Given the description of an element on the screen output the (x, y) to click on. 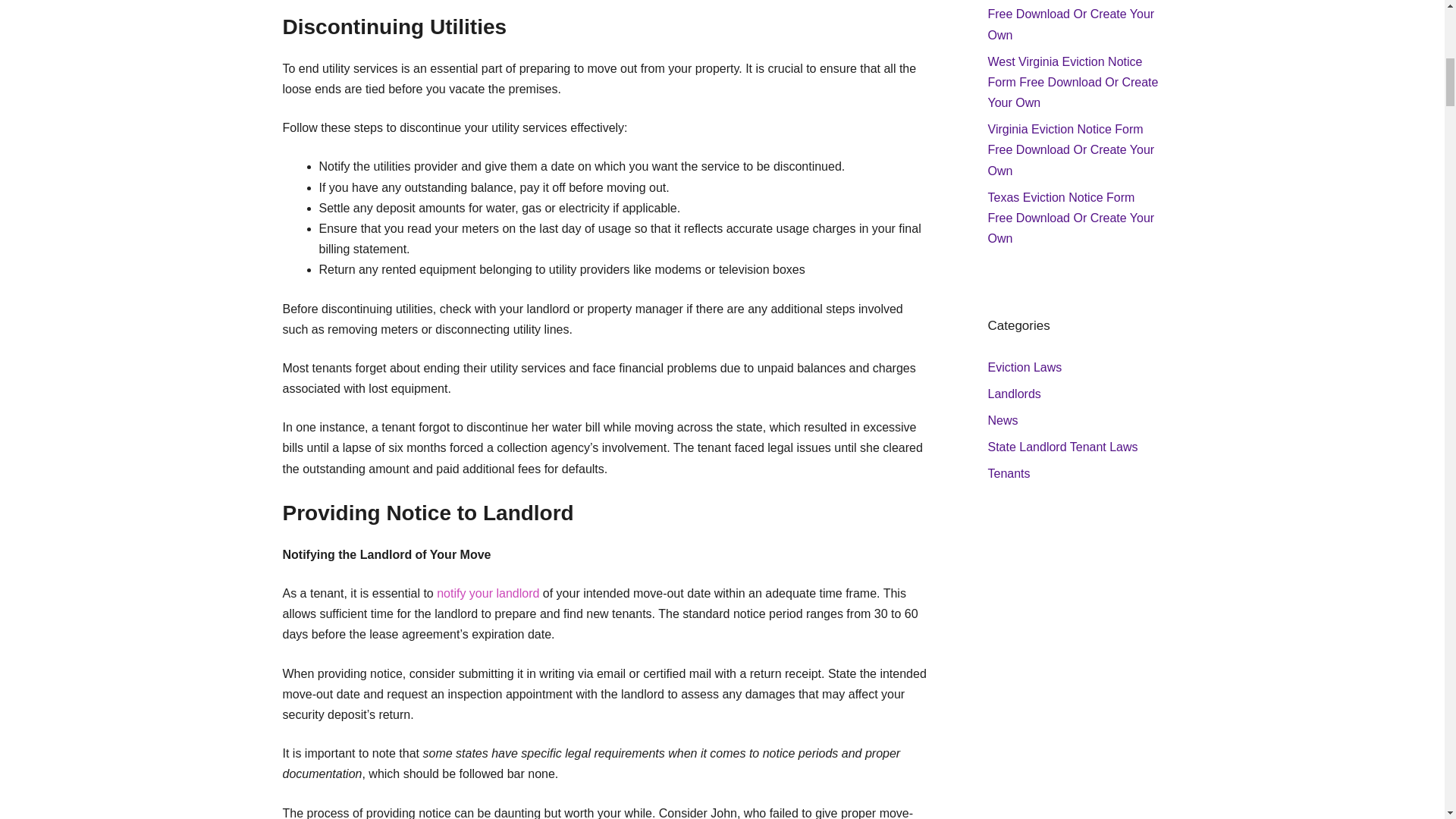
notify your landlord (487, 593)
Scroll back to top (1406, 720)
